Given the description of an element on the screen output the (x, y) to click on. 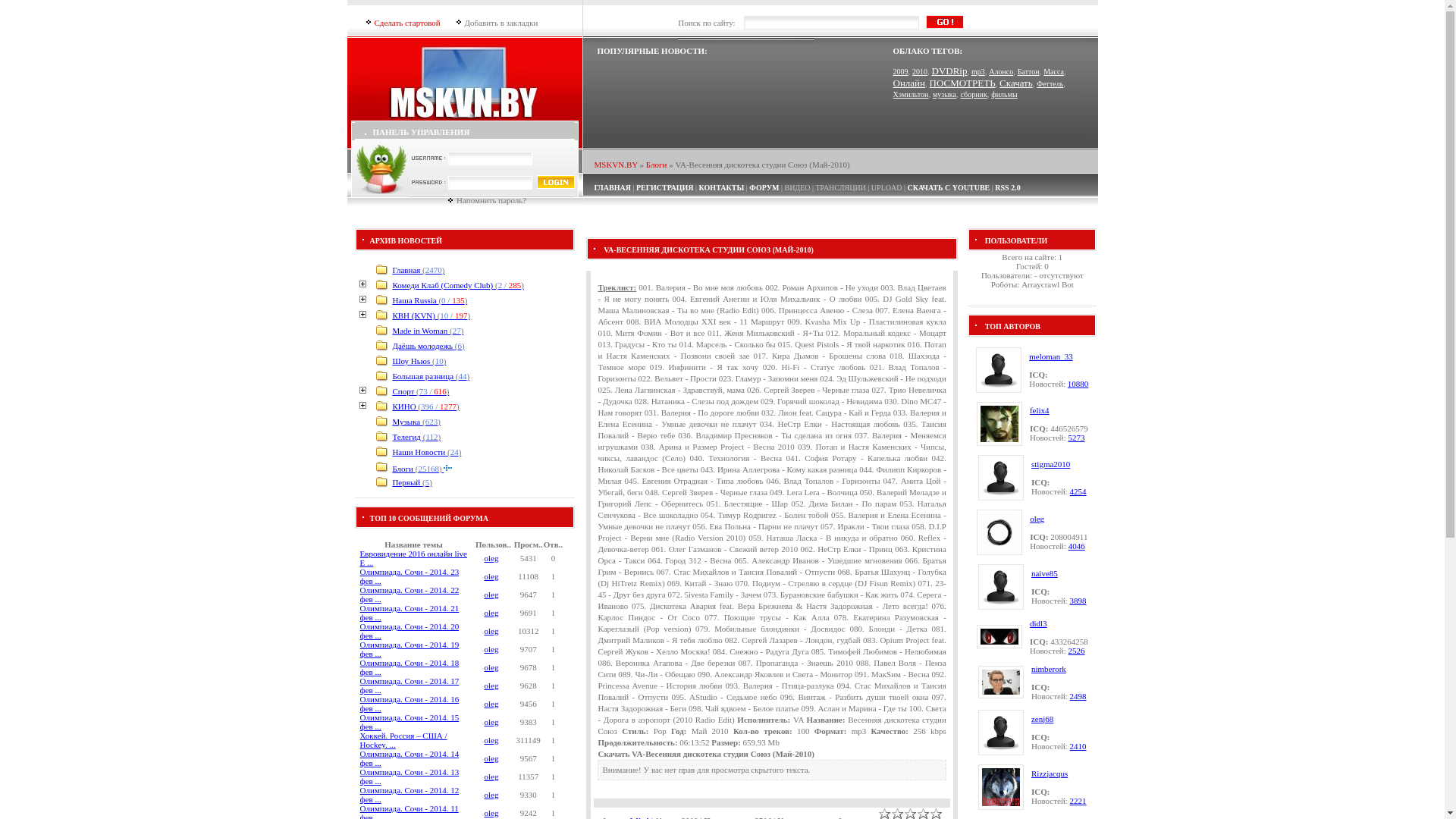
10880 Element type: text (1077, 383)
oleg Element type: text (491, 685)
oleg Element type: text (491, 594)
stigma2010 Element type: text (1050, 463)
felix4 Element type: text (1039, 409)
Rizzjacqus Element type: text (1049, 773)
oleg Element type: text (491, 739)
2010 Element type: text (919, 71)
MSKVN.BY Element type: text (615, 164)
DVDRip Element type: text (948, 70)
didl3 Element type: text (1038, 622)
nimberork Element type: text (1048, 668)
2526 Element type: text (1076, 650)
RSS 2.0 Element type: text (1006, 187)
meloman_33 Element type: text (1050, 355)
mp3 Element type: text (978, 71)
2498 Element type: text (1078, 695)
oleg Element type: text (491, 757)
5273 Element type: text (1076, 437)
2221 Element type: text (1078, 800)
oleg Element type: text (491, 721)
4046 Element type: text (1076, 545)
oleg Element type: text (491, 666)
oleg Element type: text (491, 703)
oleg Element type: text (491, 612)
oleg Element type: text (491, 648)
2410 Element type: text (1078, 745)
2009 Element type: text (900, 71)
4254 Element type: text (1078, 490)
naive85 Element type: text (1044, 572)
oleg Element type: text (491, 794)
oleg Element type: text (491, 575)
Made in Woman (27) Element type: text (427, 330)
zenj68 Element type: text (1042, 718)
oleg Element type: text (1036, 518)
oleg Element type: text (491, 812)
oleg Element type: text (491, 776)
oleg Element type: text (491, 630)
3898 Element type: text (1078, 600)
oleg Element type: text (491, 557)
